Given the description of an element on the screen output the (x, y) to click on. 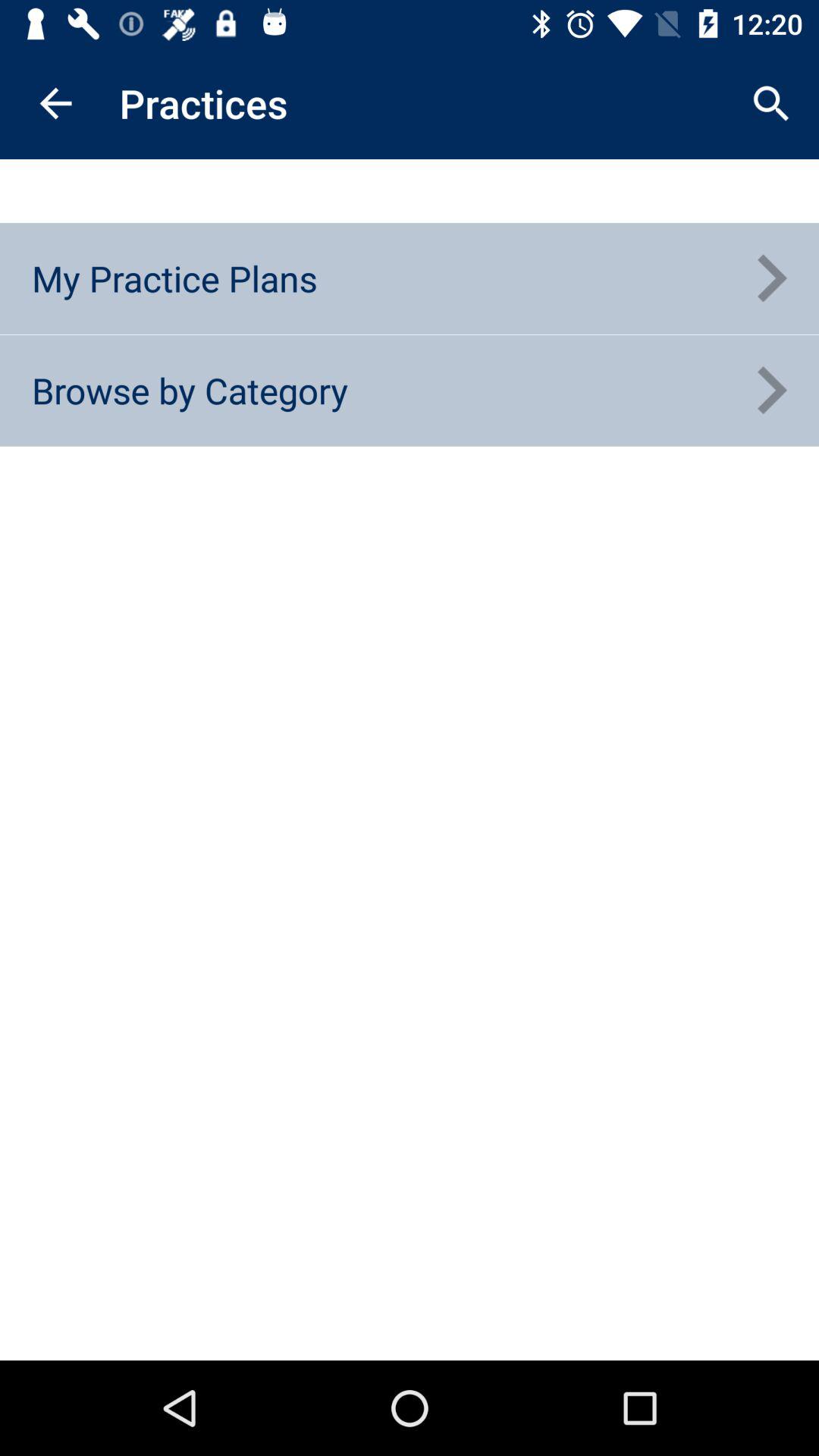
press the icon next to browse by category (771, 390)
